Given the description of an element on the screen output the (x, y) to click on. 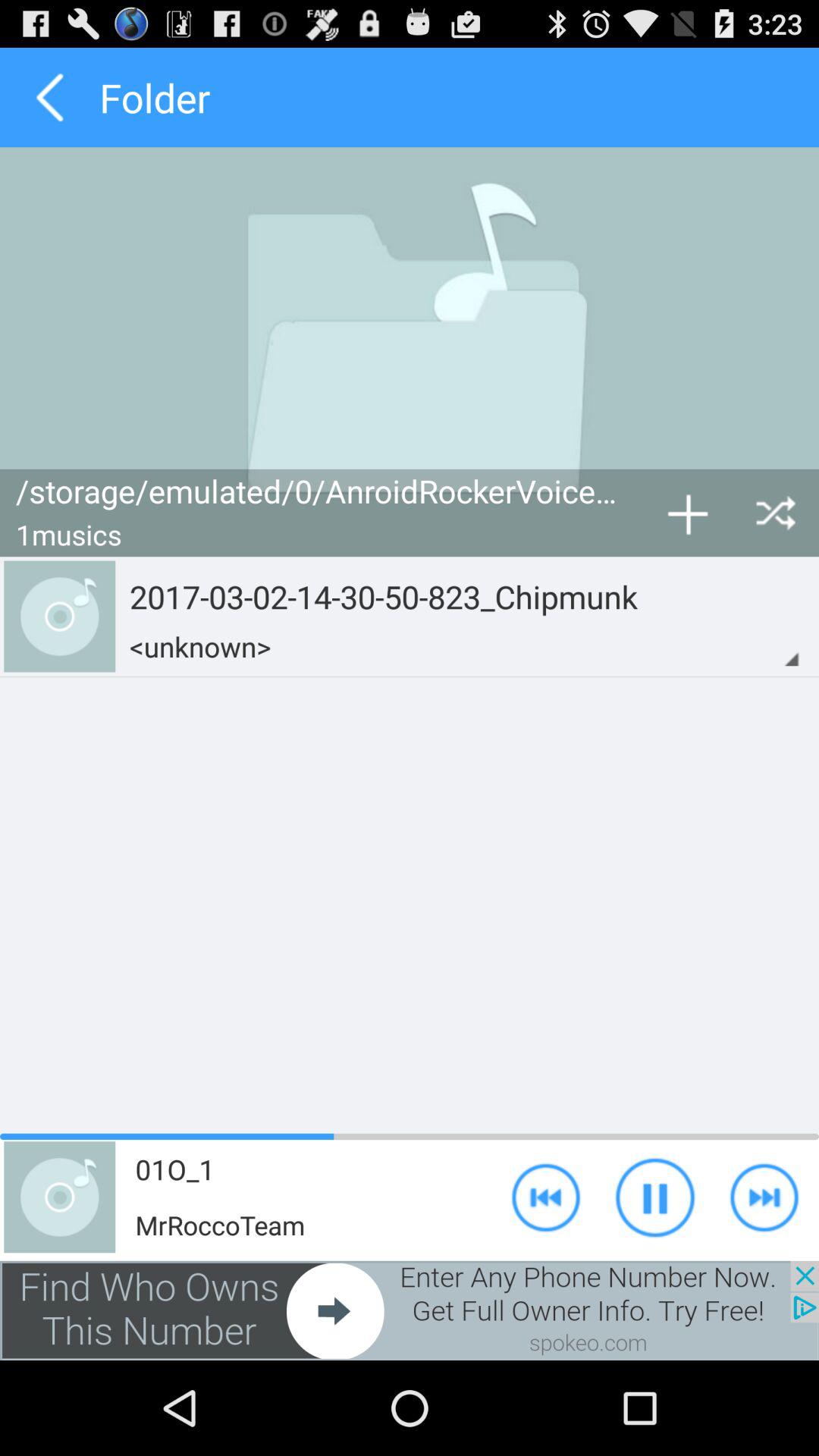
go to next (409, 1310)
